Given the description of an element on the screen output the (x, y) to click on. 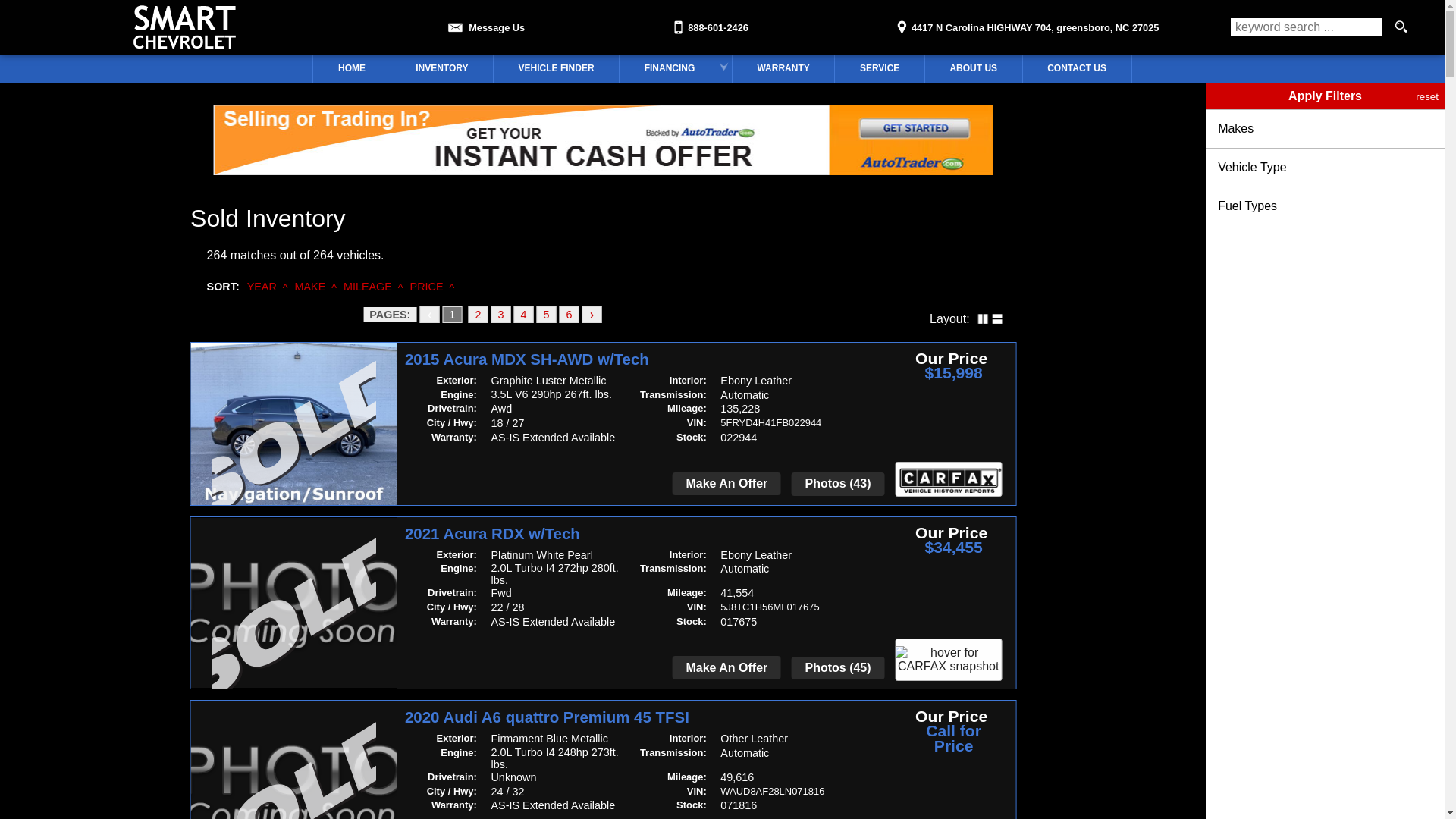
INVENTORY Element type: text (441, 68)
Instant Cash Offer Element type: hover (602, 170)
FINANCING Element type: text (675, 68)
4 Element type: text (523, 314)
Message Us Element type: text (483, 22)
Photos (43) Element type: text (837, 483)
WARRANTY Element type: text (783, 68)
Sold - 2015 Acura MDX SH-AWD w/Tech in greensboro, NC 27025 Element type: hover (293, 439)
MILEAGE Element type: text (367, 286)
6 Element type: text (568, 314)
Make An Offer Element type: text (726, 667)
PRICE Element type: text (426, 286)
reset Element type: text (1426, 96)
SERVICE Element type: text (879, 68)
VEHICLE FINDER Element type: text (555, 68)
MAKE Element type: text (310, 286)
5 Element type: text (545, 314)
2 Element type: text (477, 314)
2021 Acura RDX w/Tech Element type: text (634, 534)
CARFAX for 2015 Acura MDX SH-AWD w/Tech Element type: hover (947, 478)
Apply Filters Element type: text (1324, 96)
HOME Element type: text (351, 68)
CARFAX for 2021 Acura RDX w/Tech Element type: hover (947, 659)
888-601-2426 Element type: text (708, 22)
Smart Chevrolet Element type: hover (185, 27)
Make An Offer Element type: text (726, 483)
2015 Acura MDX SH-AWD w/Tech in greensboro, NC 27025 Element type: hover (293, 423)
2015 Acura MDX SH-AWD w/Tech Element type: text (634, 360)
2020 Audi A6 quattro Premium 45 TFSI Element type: text (634, 718)
Photos (45) Element type: text (837, 668)
CONTACT US Element type: text (1076, 68)
2021 Acura RDX w/Tech in greensboro, NC 27025 Element type: hover (293, 603)
ABOUT US Element type: text (973, 68)
4417 N Carolina HIGHWAY 704, greensboro, NC 27025 Element type: text (1025, 22)
YEAR Element type: text (261, 286)
Sold - 2021 Acura RDX w/Tech in greensboro, NC 27025 Element type: hover (293, 619)
3 Element type: text (500, 314)
